Given the description of an element on the screen output the (x, y) to click on. 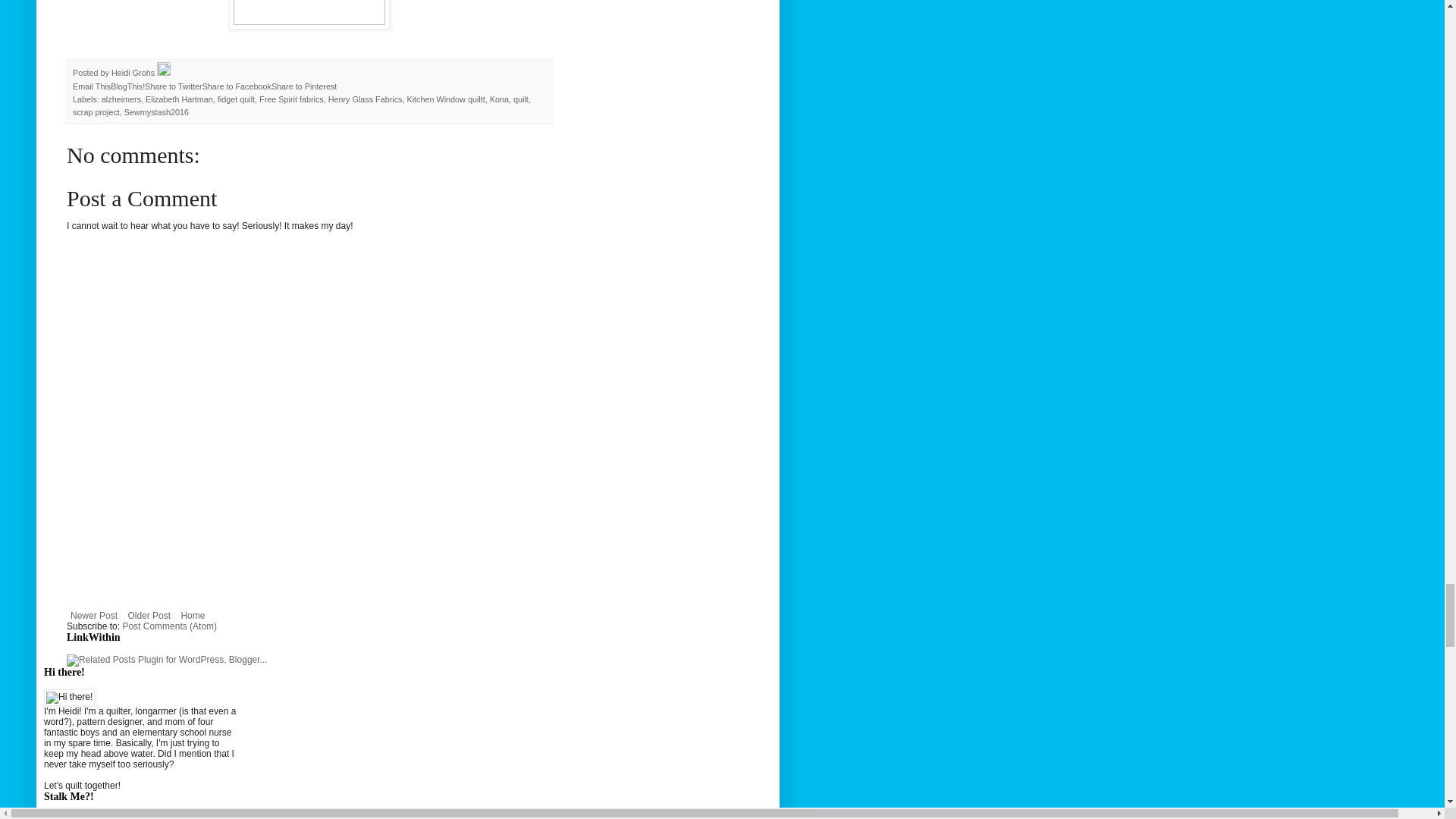
alzheimers (121, 99)
Share to Twitter (173, 85)
Heidi Grohs (134, 71)
Older Post (148, 615)
Newer Post (93, 615)
Share to Twitter (173, 85)
BlogThis! (127, 85)
Share to Pinterest (303, 85)
Email This (91, 85)
Share to Facebook (236, 85)
Free Spirit fabrics (291, 99)
author profile (134, 71)
BlogThis! (127, 85)
Elizabeth Hartman (178, 99)
Edit Post (163, 71)
